Given the description of an element on the screen output the (x, y) to click on. 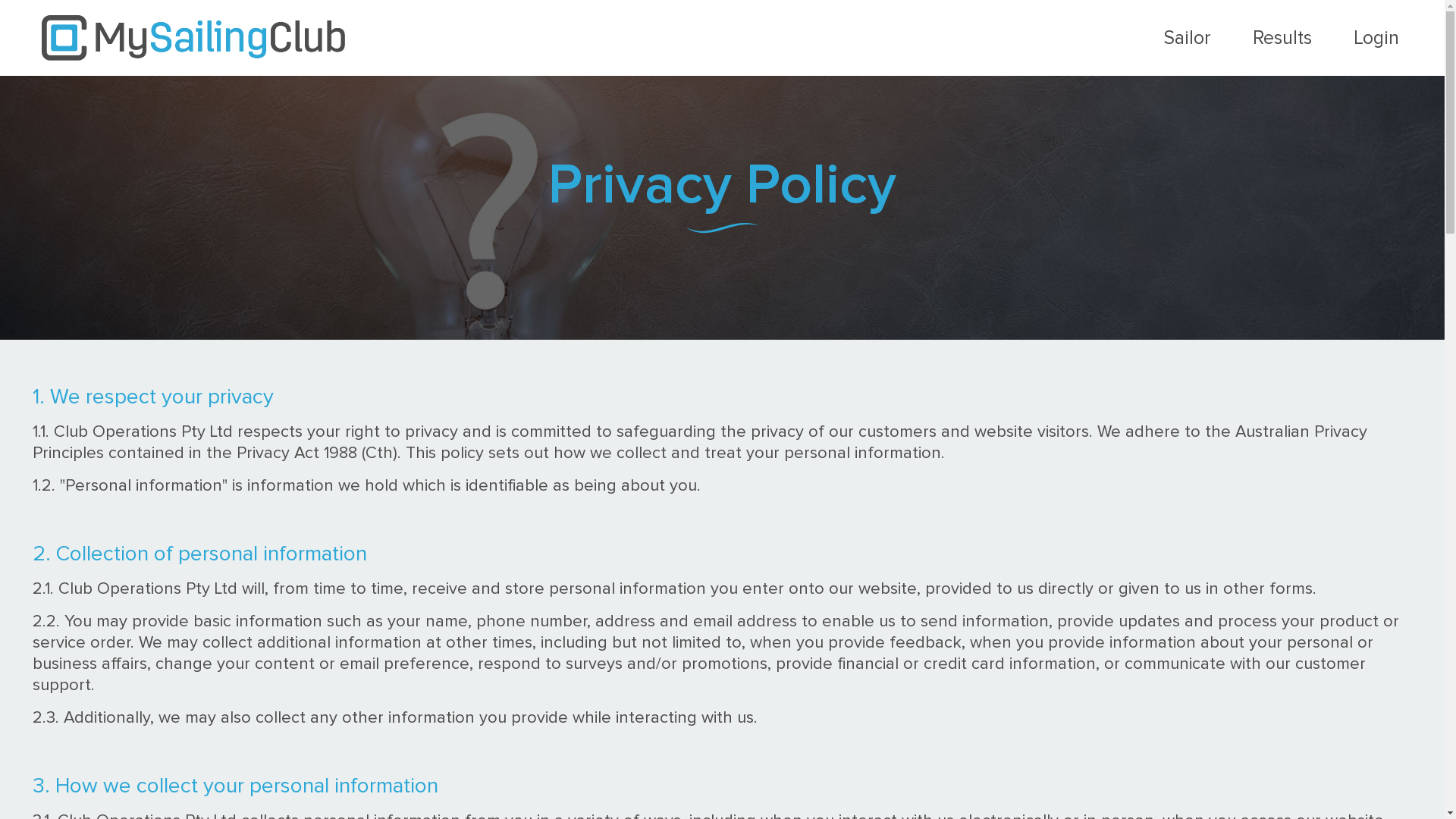
Login Element type: text (1376, 37)
Sailor Element type: text (1187, 37)
Results Element type: text (1281, 37)
